Given the description of an element on the screen output the (x, y) to click on. 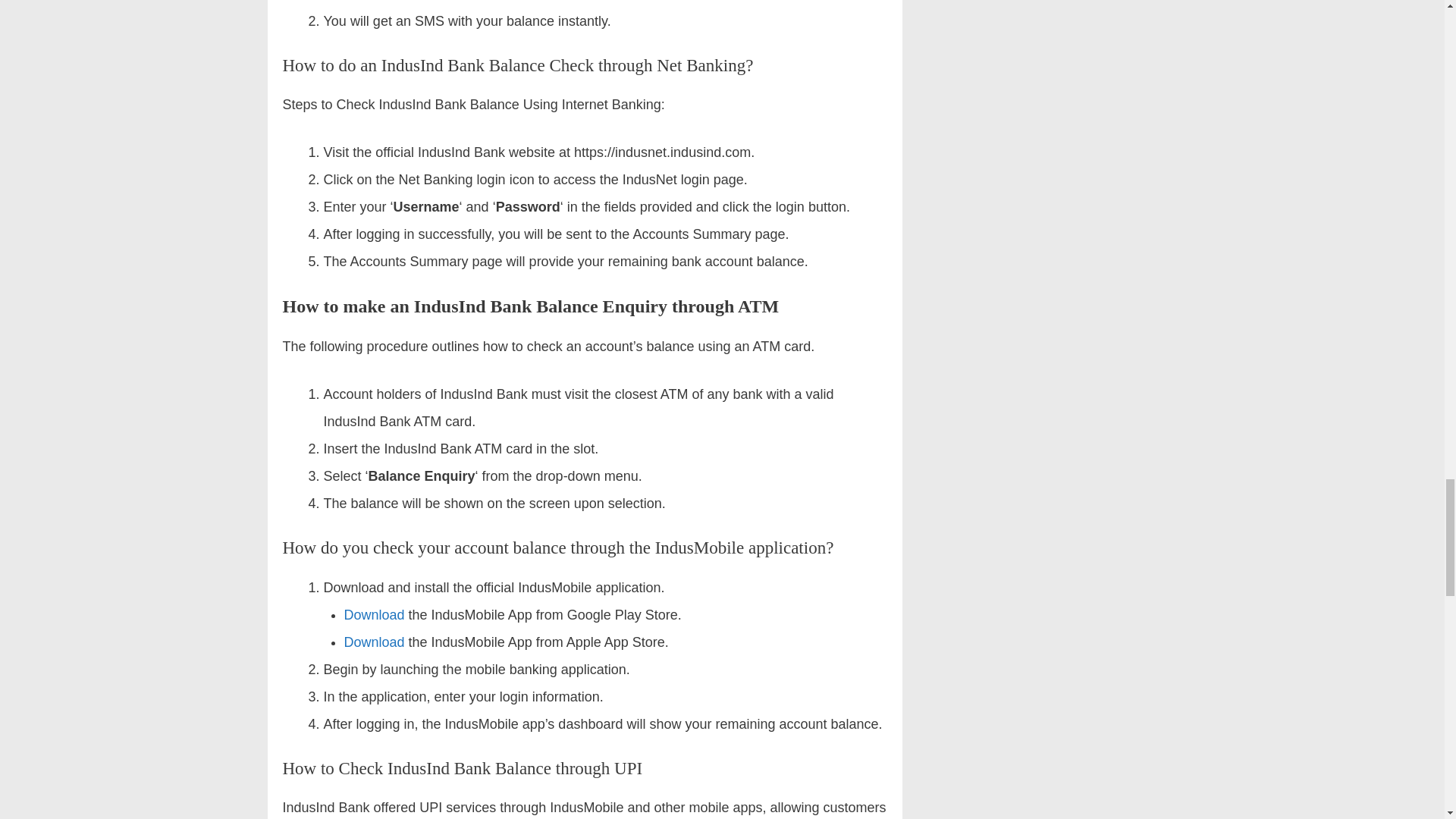
Download (373, 642)
Download (373, 614)
